Given the description of an element on the screen output the (x, y) to click on. 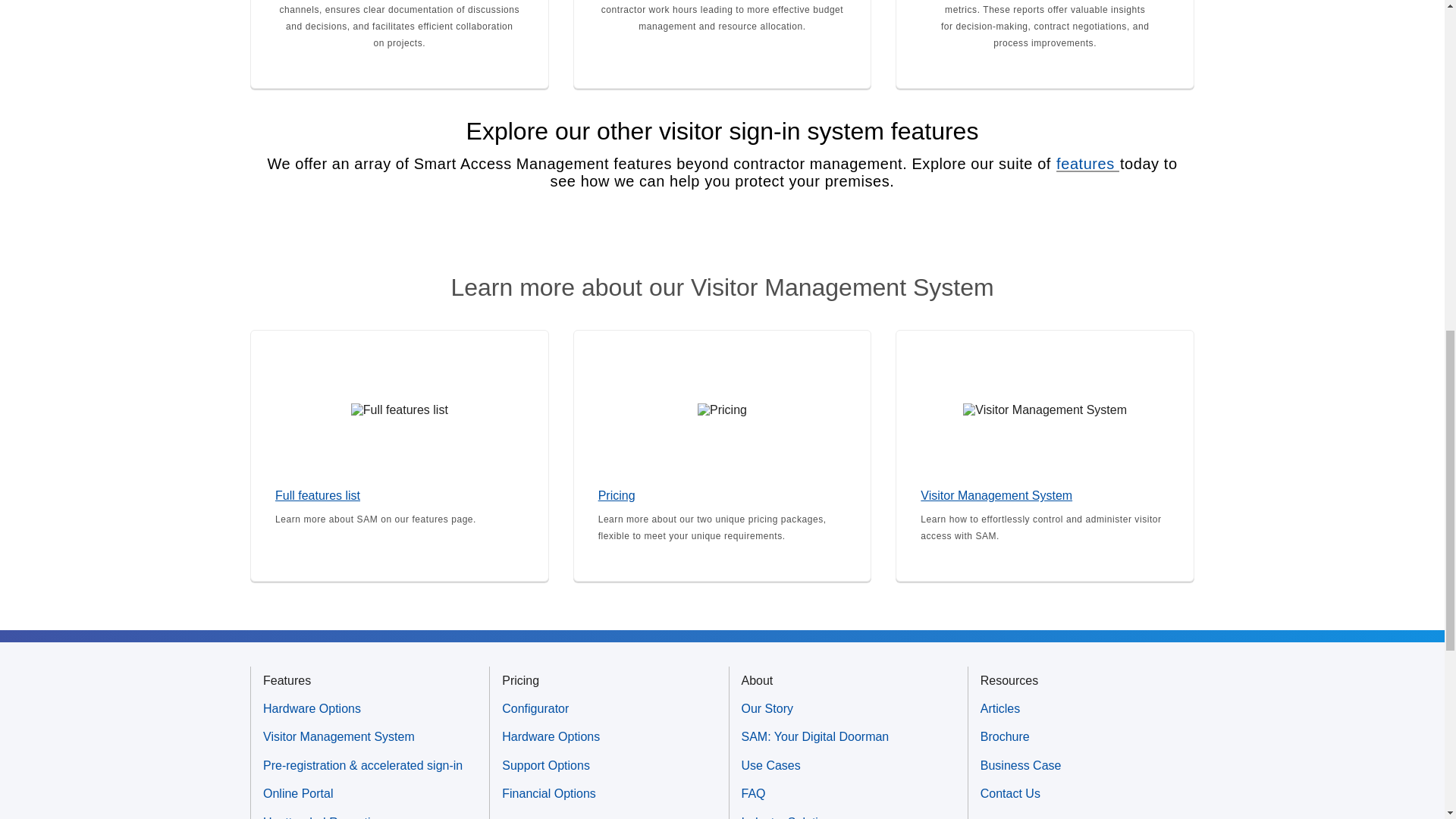
Features (287, 680)
Support Options (609, 765)
Financial Options (609, 793)
Hardware Options (609, 736)
Hardware Options (370, 708)
Click here to know more (722, 455)
Brochure (1086, 736)
Unattended Reception (370, 816)
features (1088, 163)
Business Case (1086, 765)
Resources (1008, 680)
SAM: Your Digital Doorman (848, 736)
Learn more SAM (399, 455)
